Given the description of an element on the screen output the (x, y) to click on. 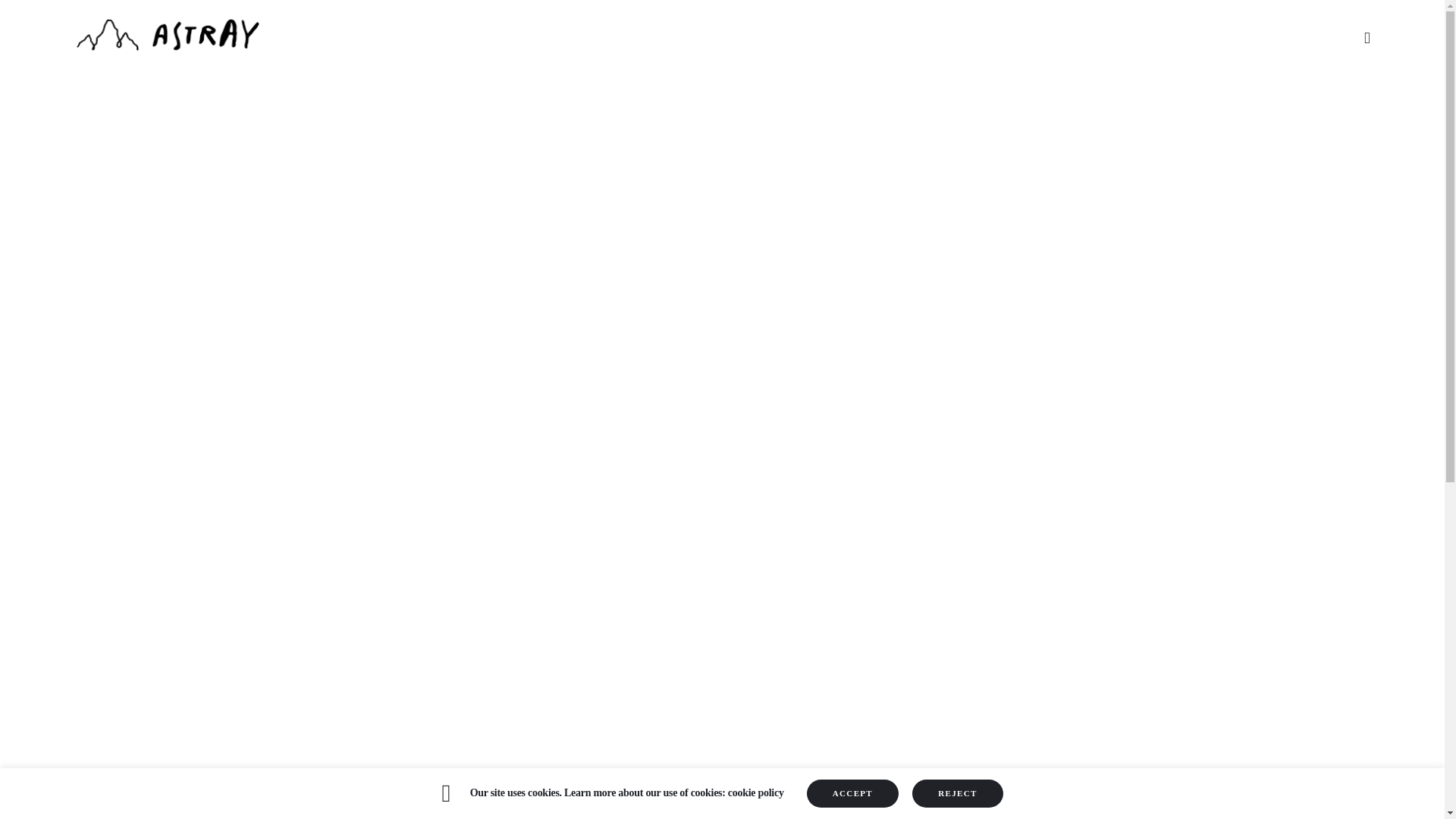
REJECT Element type: text (957, 793)
ACCEPT Element type: text (852, 793)
